Given the description of an element on the screen output the (x, y) to click on. 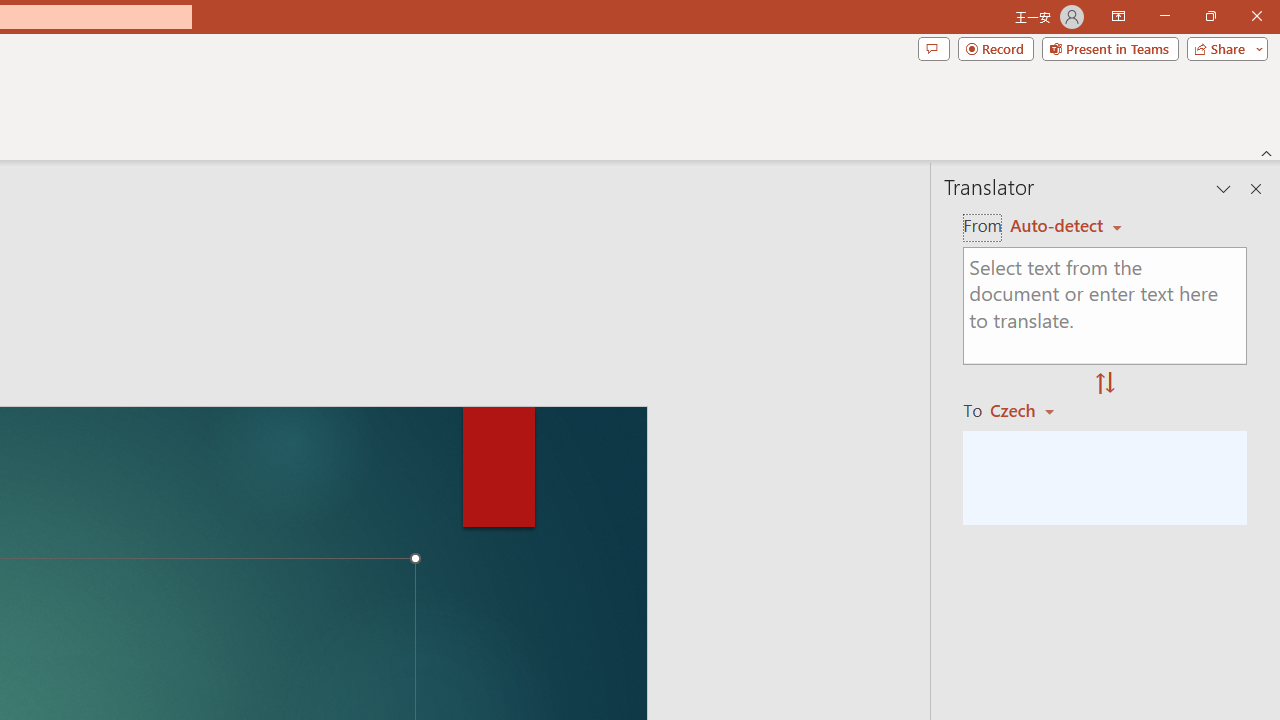
Minimize (1164, 16)
Close pane (1256, 188)
